Given the description of an element on the screen output the (x, y) to click on. 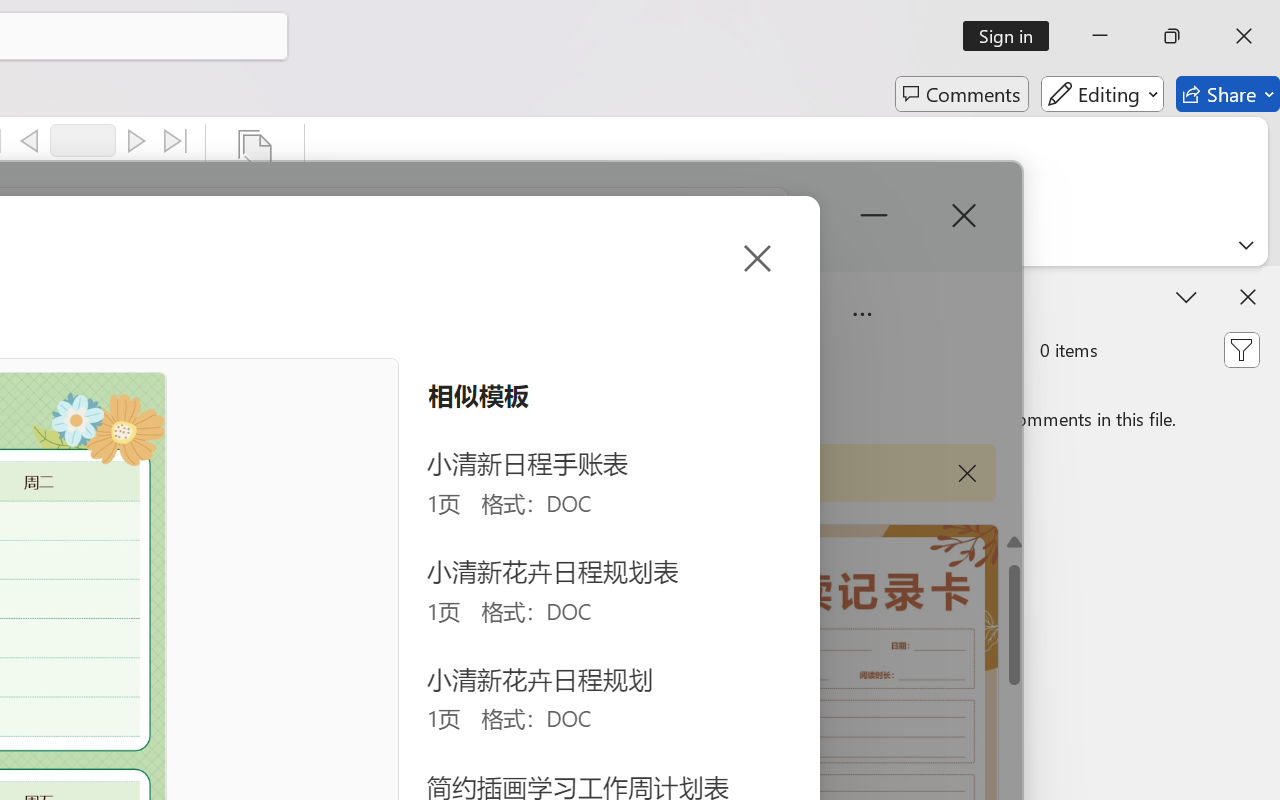
Finish & Merge (255, 179)
Next (136, 141)
Record (83, 140)
Sign in (1012, 35)
New comment (866, 350)
Editing (1101, 94)
Last (175, 141)
Filter (1241, 350)
Previous (29, 141)
